Given the description of an element on the screen output the (x, y) to click on. 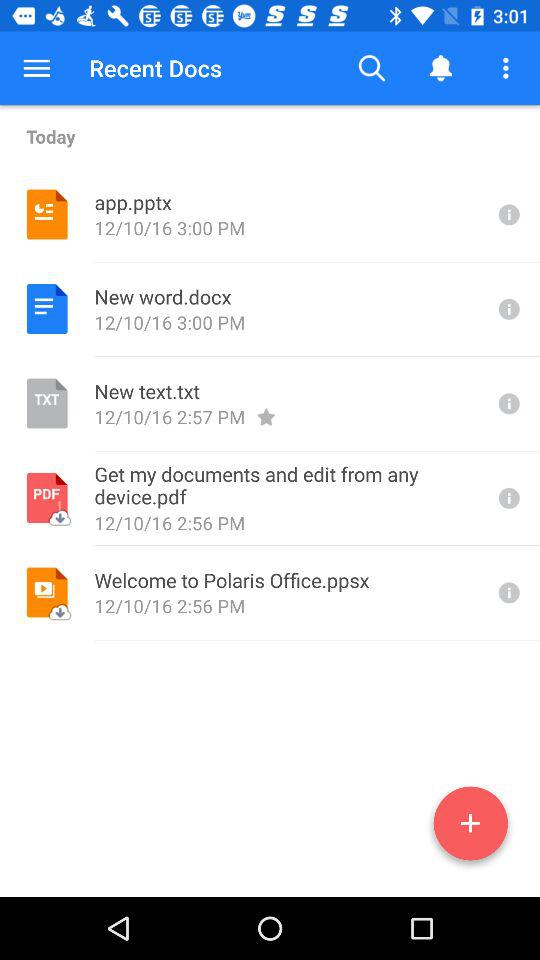
add document (470, 827)
